Given the description of an element on the screen output the (x, y) to click on. 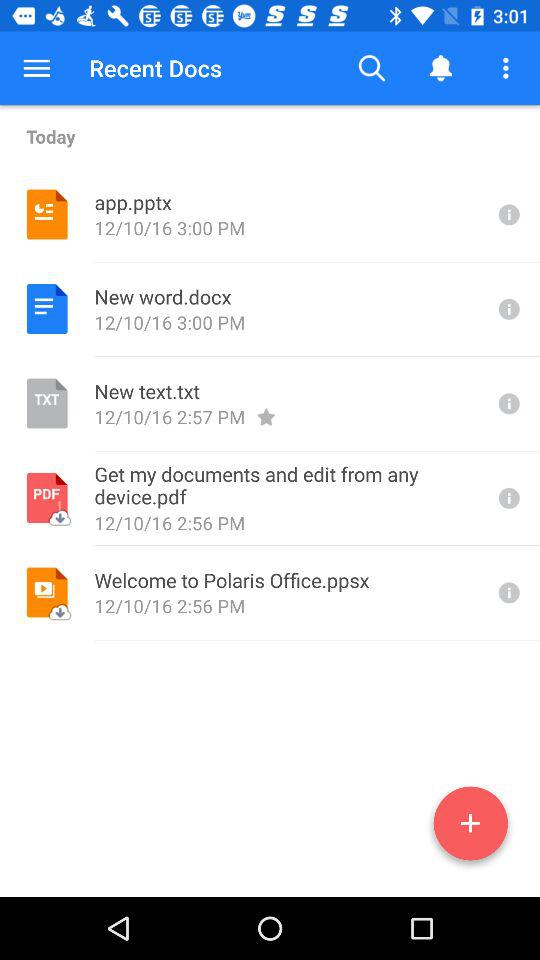
add document (470, 827)
